Given the description of an element on the screen output the (x, y) to click on. 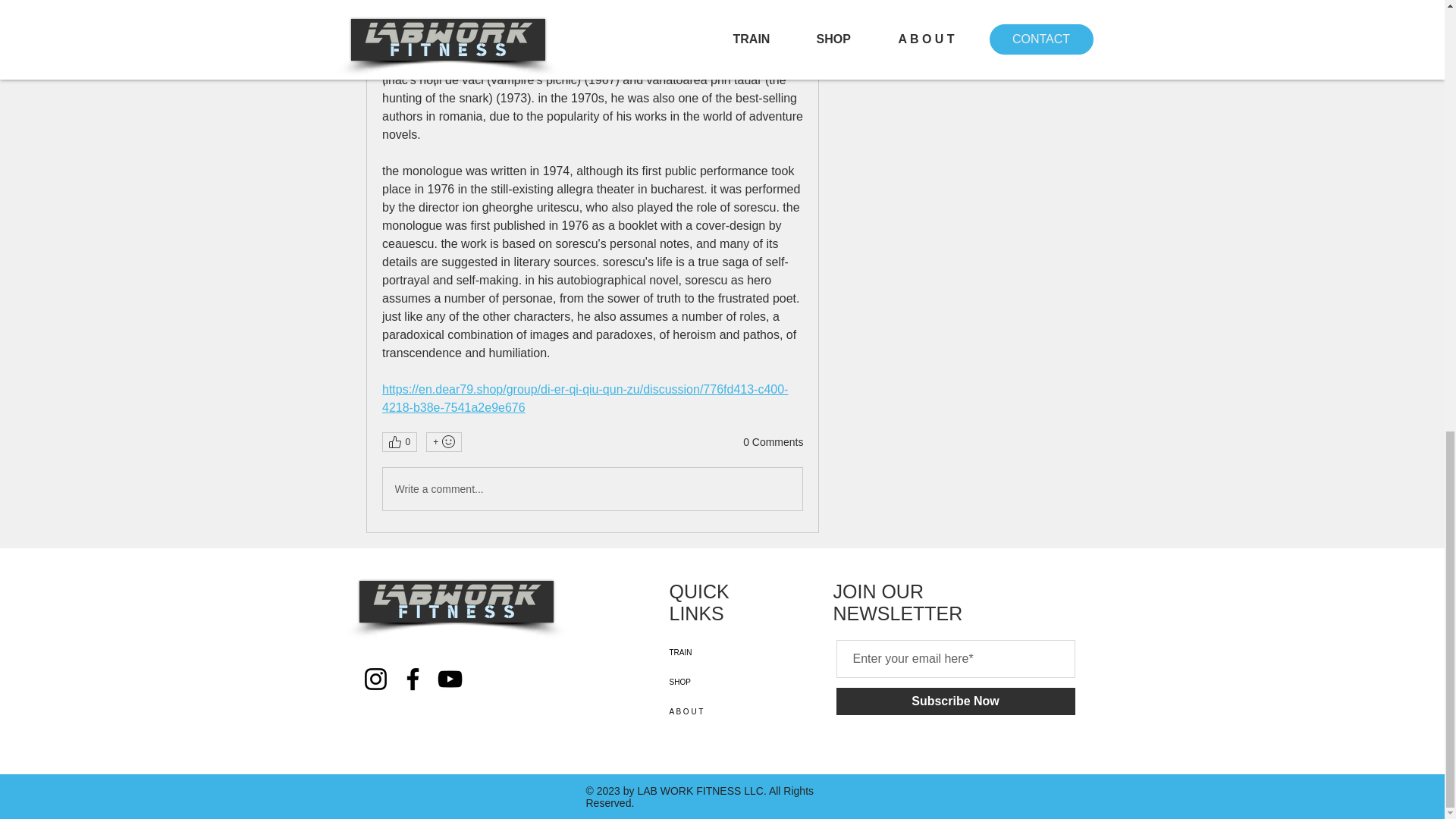
Subscribe Now (954, 700)
0 Comments (772, 442)
Write a comment... (591, 488)
TRAIN (722, 652)
A B O U T (722, 711)
SHOP (722, 681)
